Given the description of an element on the screen output the (x, y) to click on. 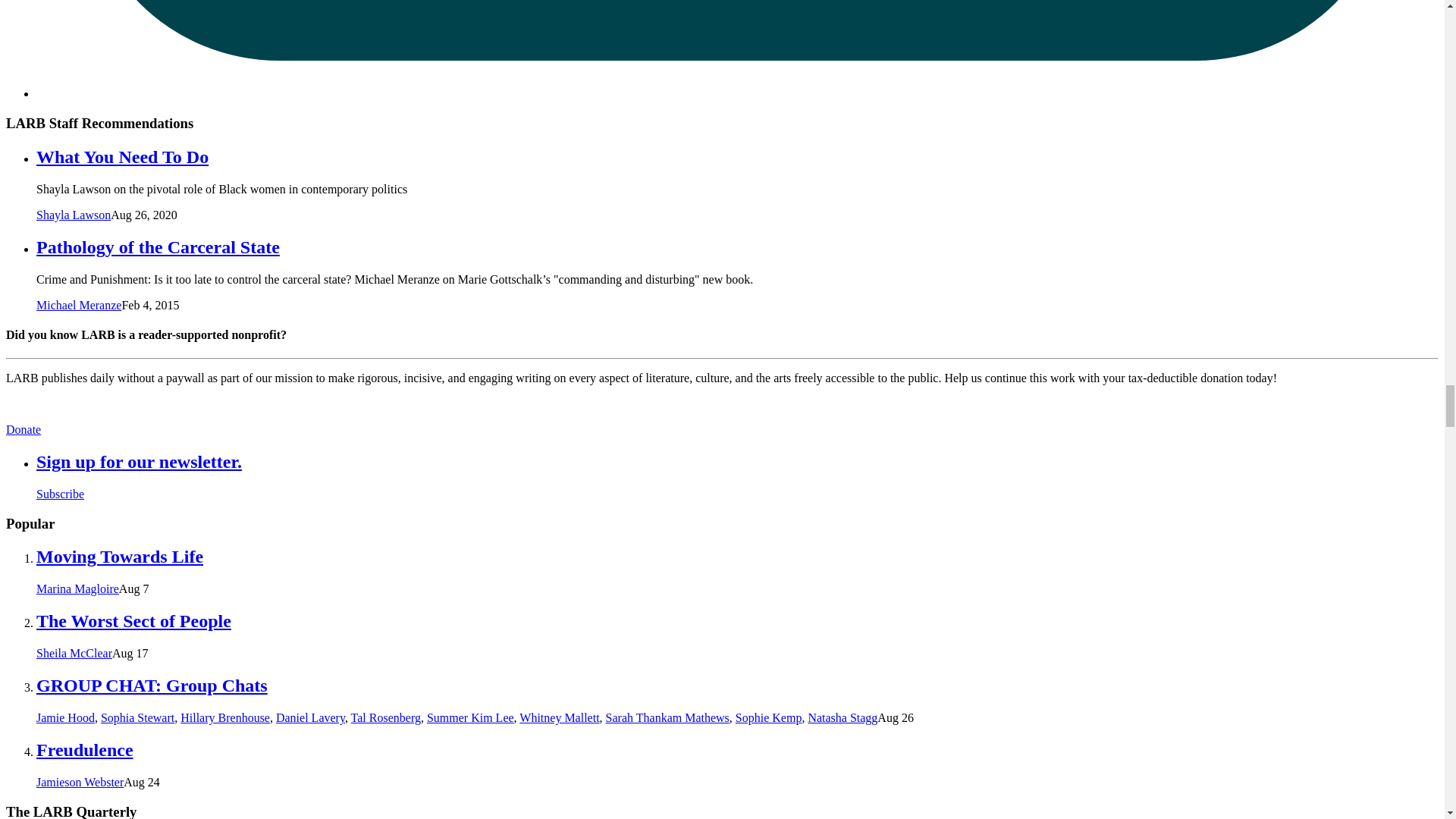
Sign up for our newsletter. (138, 461)
Michael Meranze (78, 305)
Pathology of the Carceral State (157, 247)
What You Need To Do (122, 157)
Shayla Lawson (73, 214)
